Given the description of an element on the screen output the (x, y) to click on. 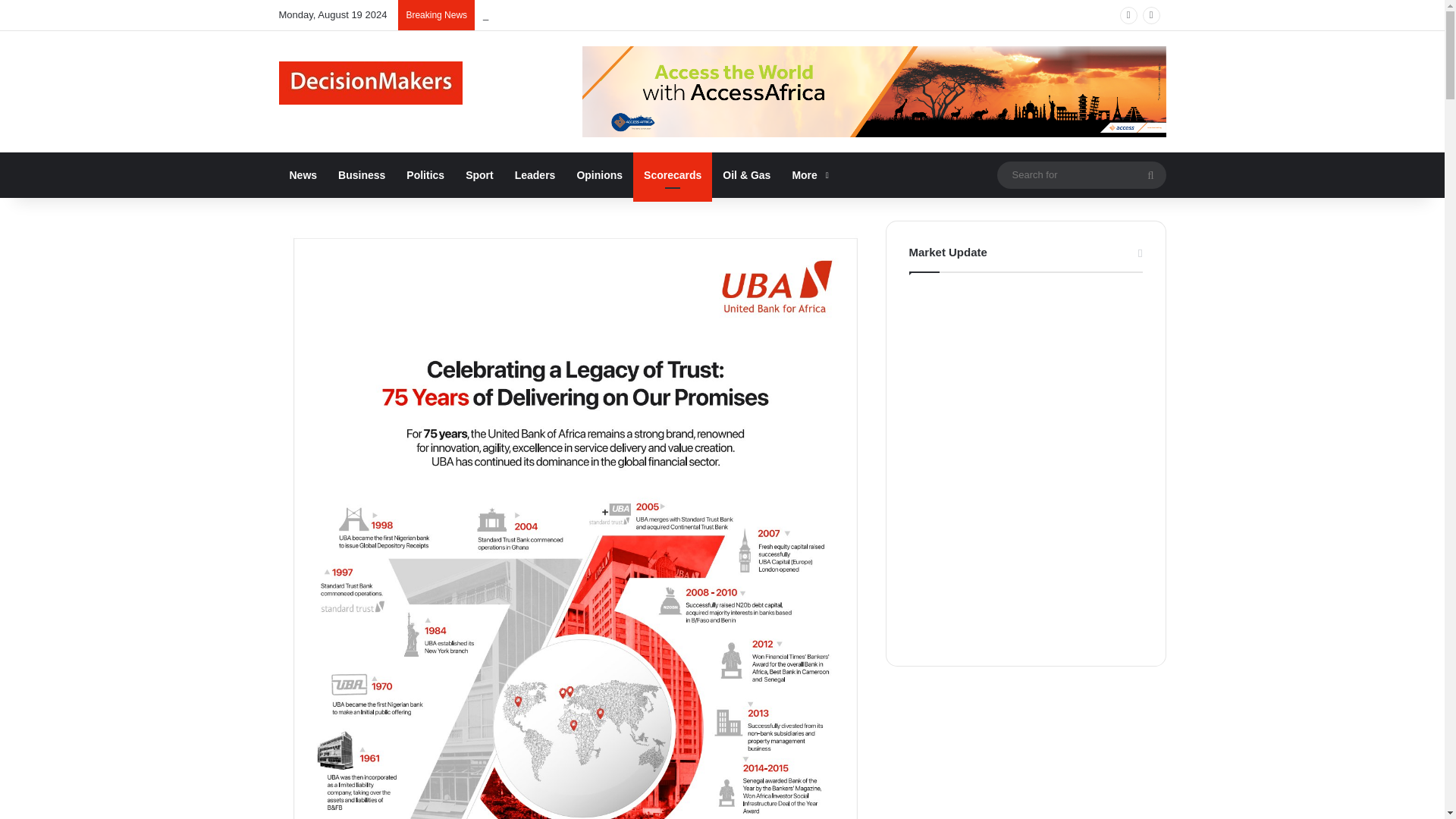
Search for (1150, 175)
News (304, 175)
Politics (425, 175)
Scorecards (672, 175)
Sport (478, 175)
Opinions (599, 175)
Search for (1080, 174)
Business (361, 175)
Leaders (534, 175)
More (807, 175)
